Given the description of an element on the screen output the (x, y) to click on. 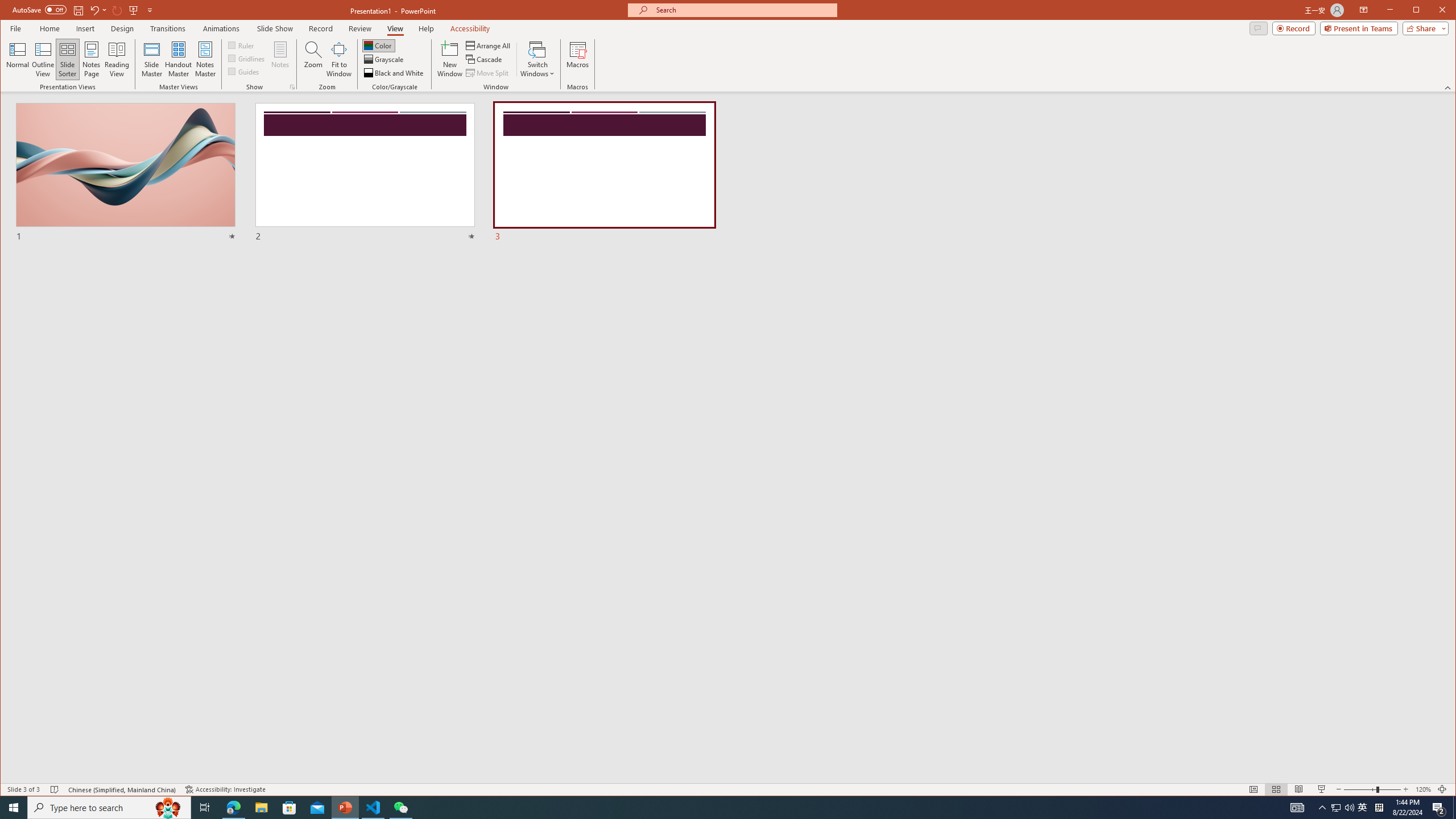
Move Split (488, 72)
